Given the description of an element on the screen output the (x, y) to click on. 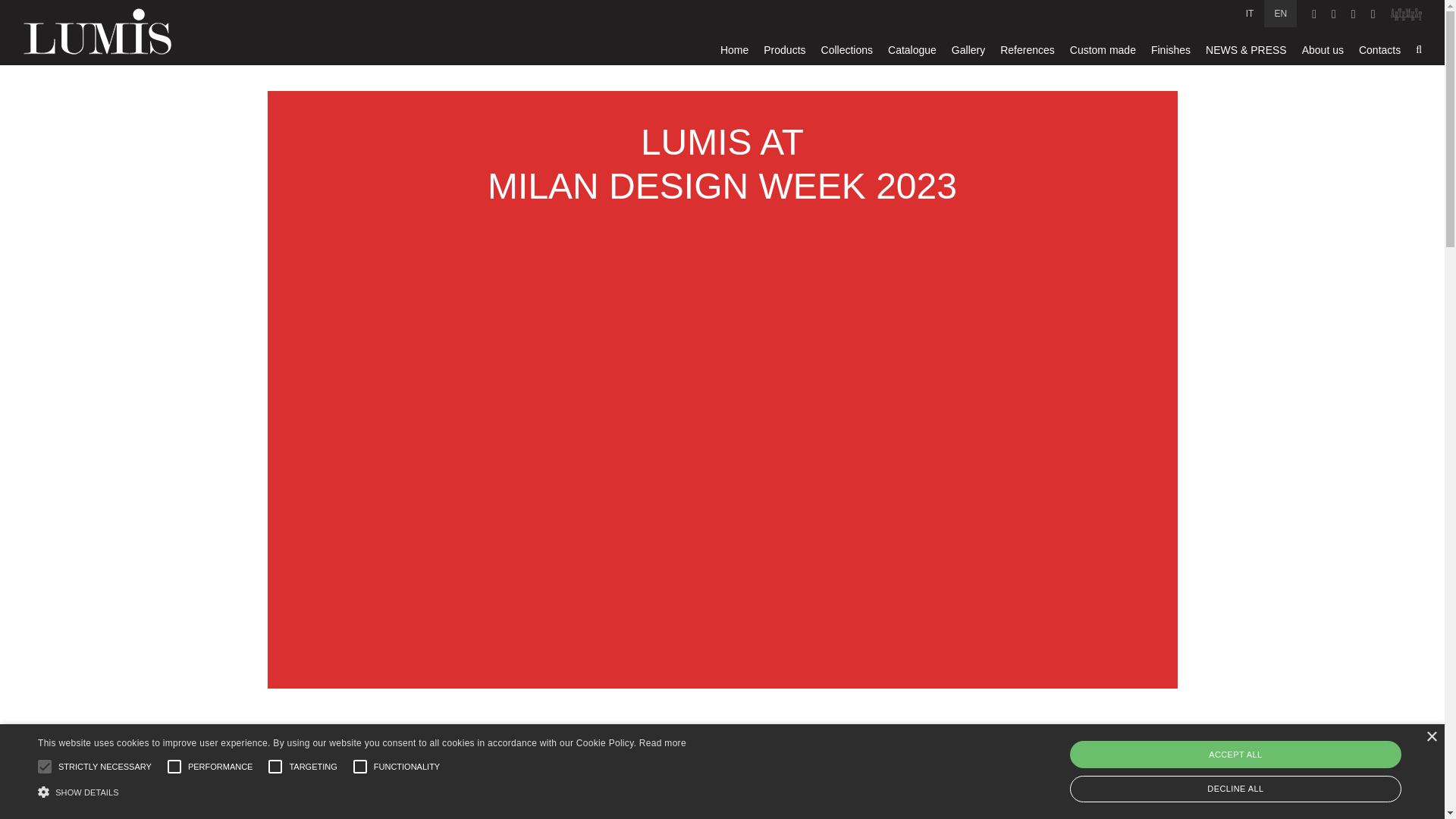
Italiano (1249, 13)
Search (1418, 49)
English (1280, 13)
References (1027, 49)
Catalogue (912, 49)
LinkedIn (1373, 14)
Home (734, 49)
Artemest (1406, 14)
Collections (846, 49)
IT (1249, 13)
Products (783, 49)
Gallery (968, 49)
EN (1280, 13)
Contacts (1379, 49)
Facebook (1313, 14)
